Given the description of an element on the screen output the (x, y) to click on. 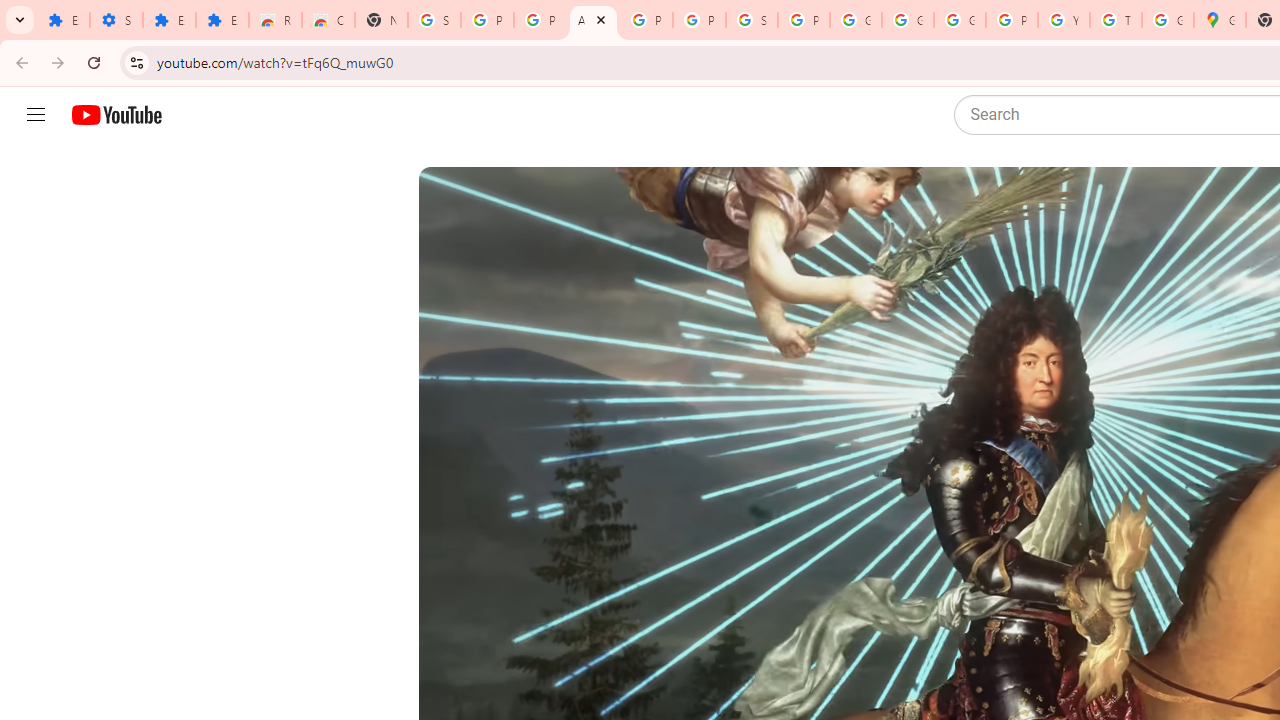
Extensions (169, 20)
New Tab (381, 20)
